Given the description of an element on the screen output the (x, y) to click on. 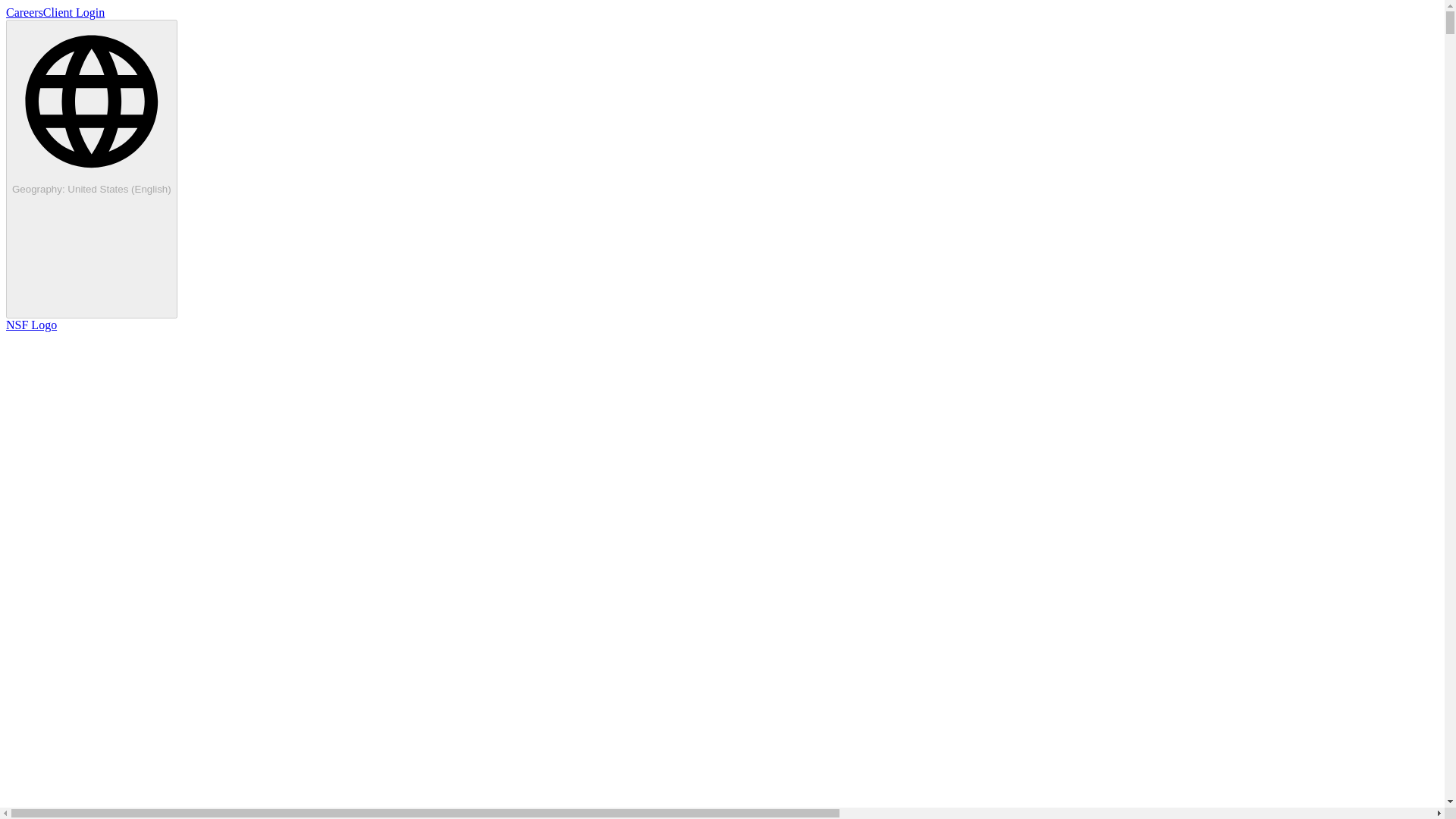
Careers (24, 11)
Client Login (73, 11)
